Given the description of an element on the screen output the (x, y) to click on. 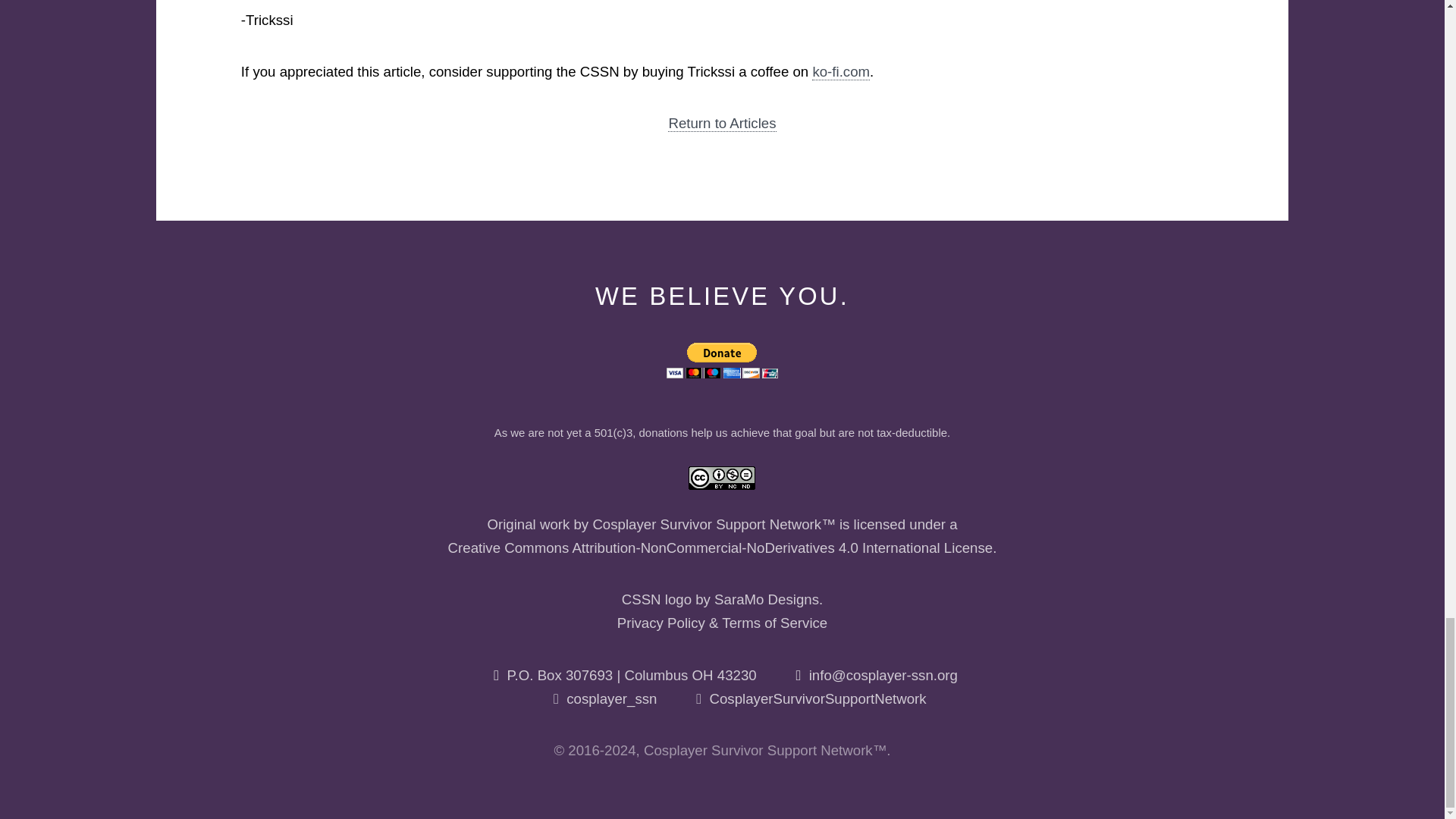
Return to Articles (722, 123)
ko-fi.com (840, 71)
Cosplayer Survivor Support Network (706, 524)
CosplayerSurvivorSupportNetwork (817, 699)
SaraMo Designs (766, 599)
